Given the description of an element on the screen output the (x, y) to click on. 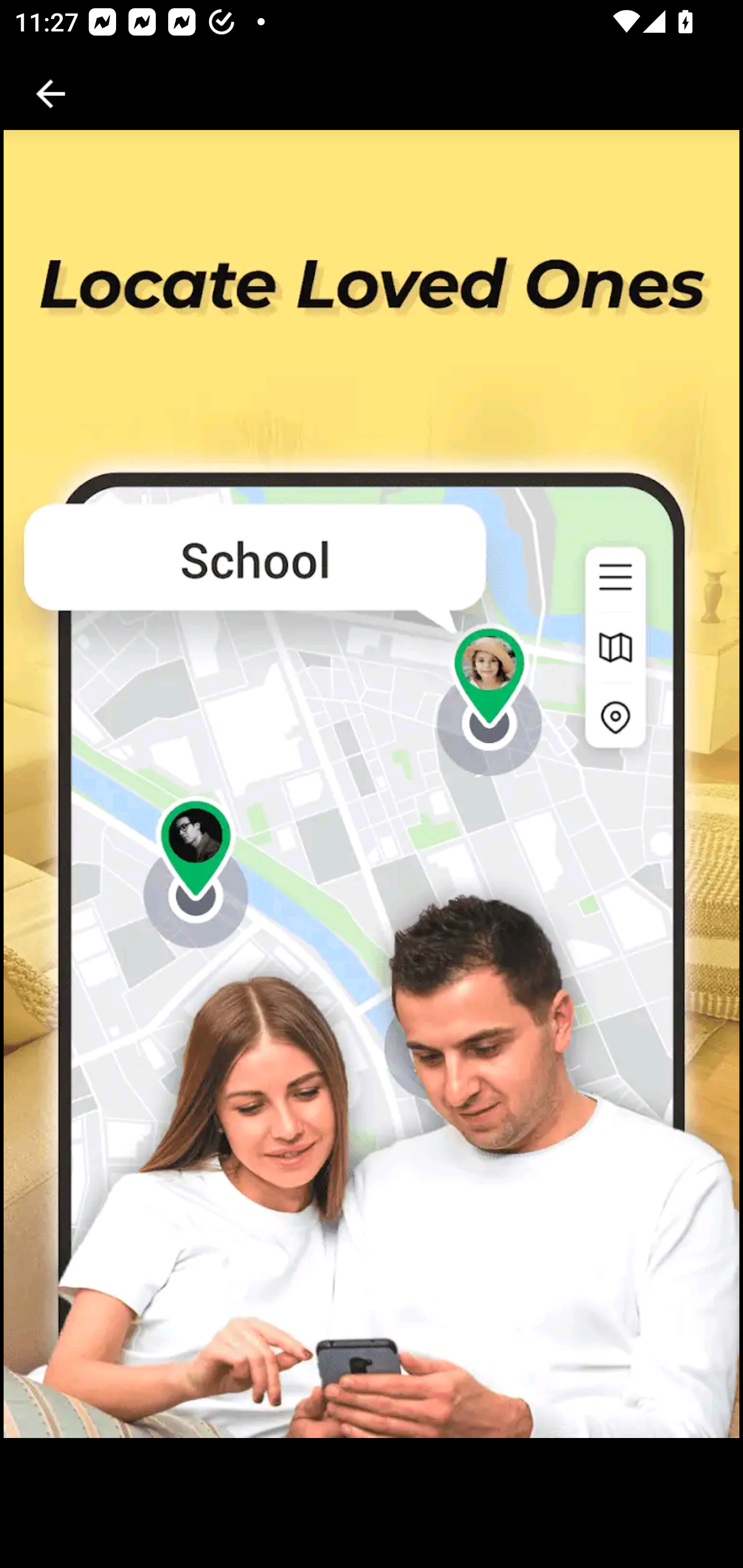
Back (50, 93)
